Given the description of an element on the screen output the (x, y) to click on. 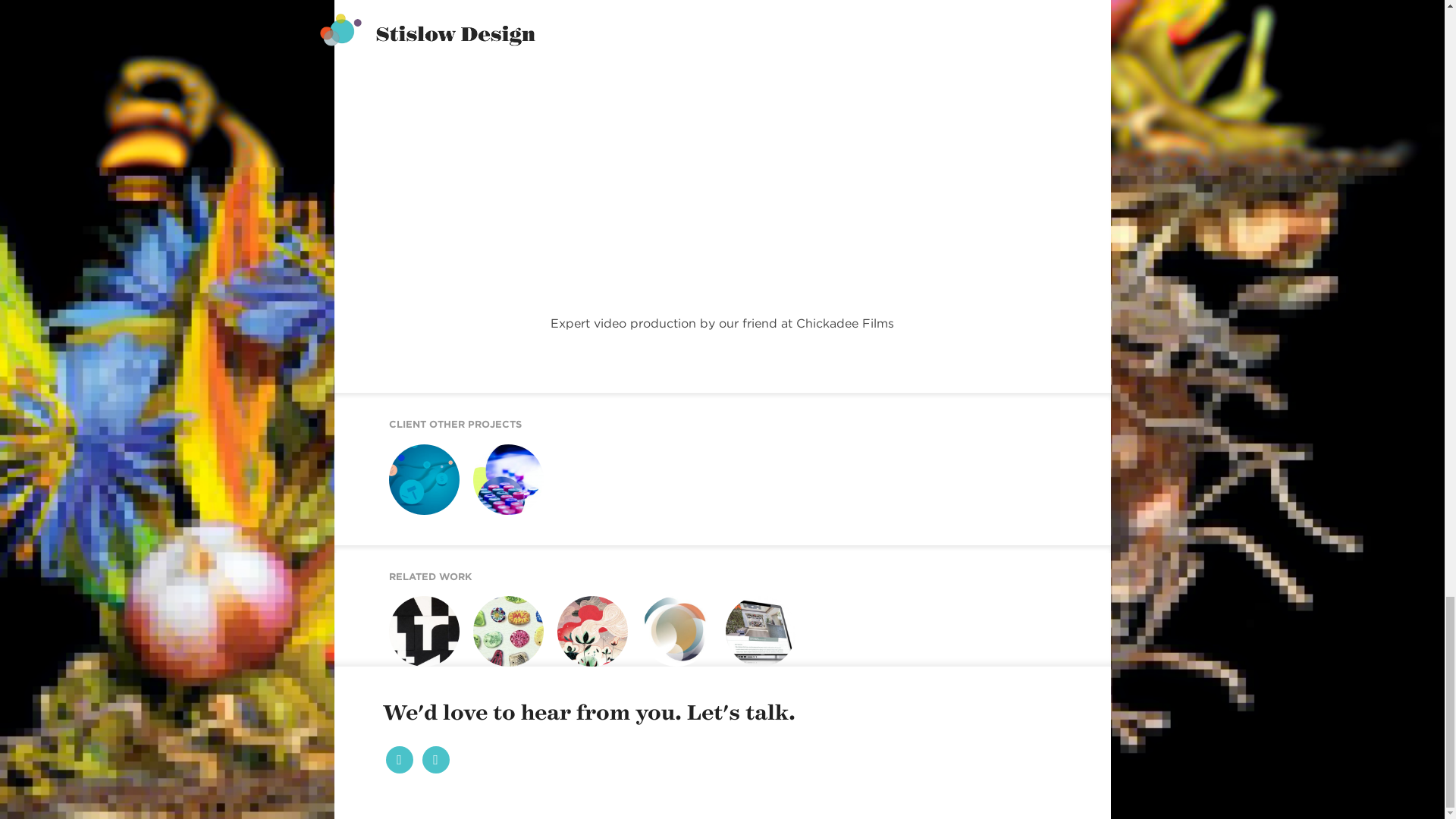
TCS WEBSITE (413, 670)
vimeo-player (721, 152)
Marbls Website (506, 520)
E-NEWSLETTERS (587, 670)
TCS Website (413, 670)
Event E-vites (669, 670)
SPARK LAUNCH VIDEO (416, 525)
spark Launch Video (416, 525)
E-newsletters (587, 670)
MARBLS WEBSITE (506, 520)
Beacon Craft Workshop Identity (502, 679)
HVA WEBSITE (750, 670)
BEACON CRAFT WORKSHOP IDENTITY (502, 679)
EVENT E-VITES (669, 670)
